Given the description of an element on the screen output the (x, y) to click on. 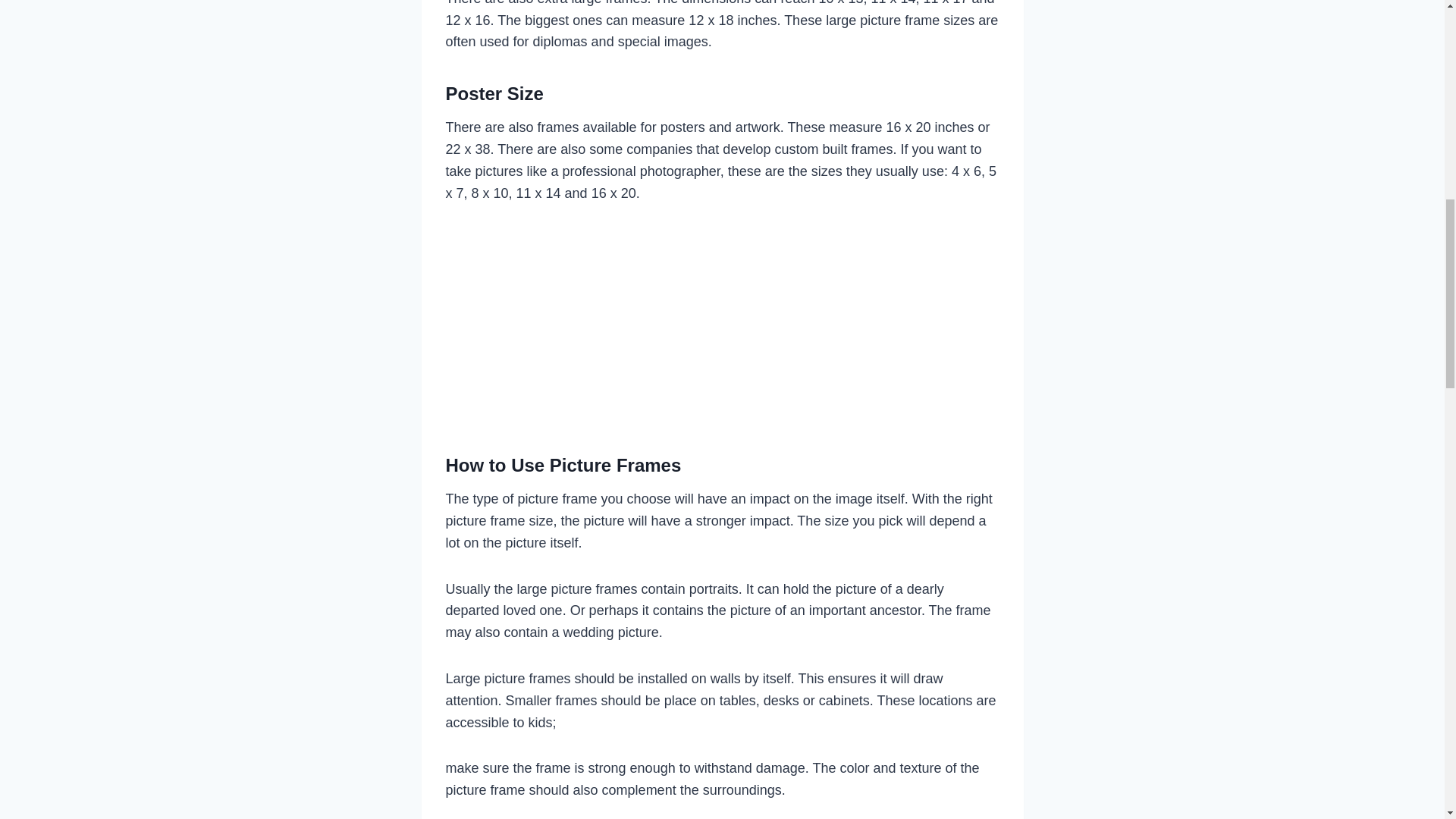
Advertisement (721, 322)
